Given the description of an element on the screen output the (x, y) to click on. 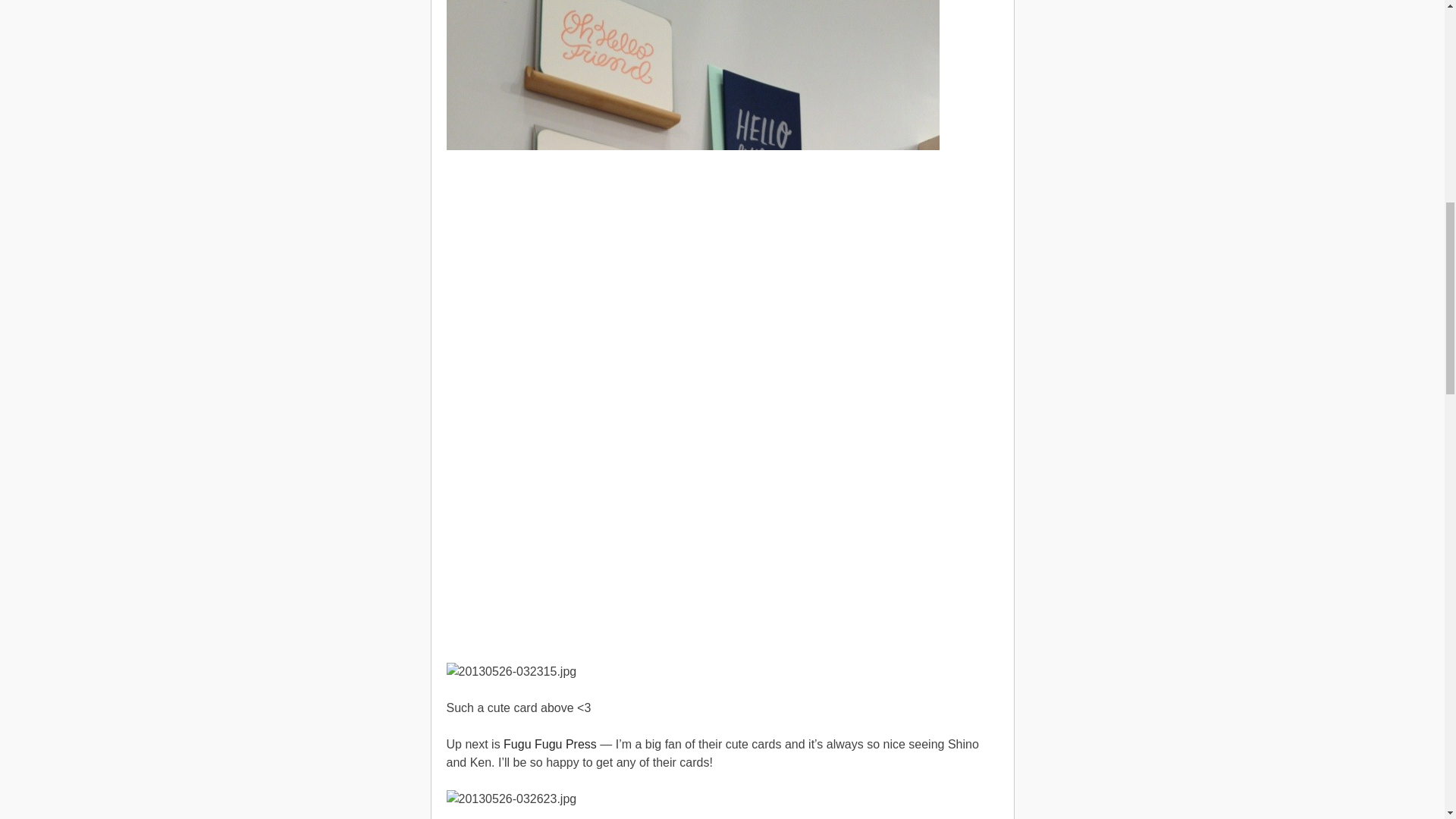
Fugu Fugu Press (549, 743)
